Given the description of an element on the screen output the (x, y) to click on. 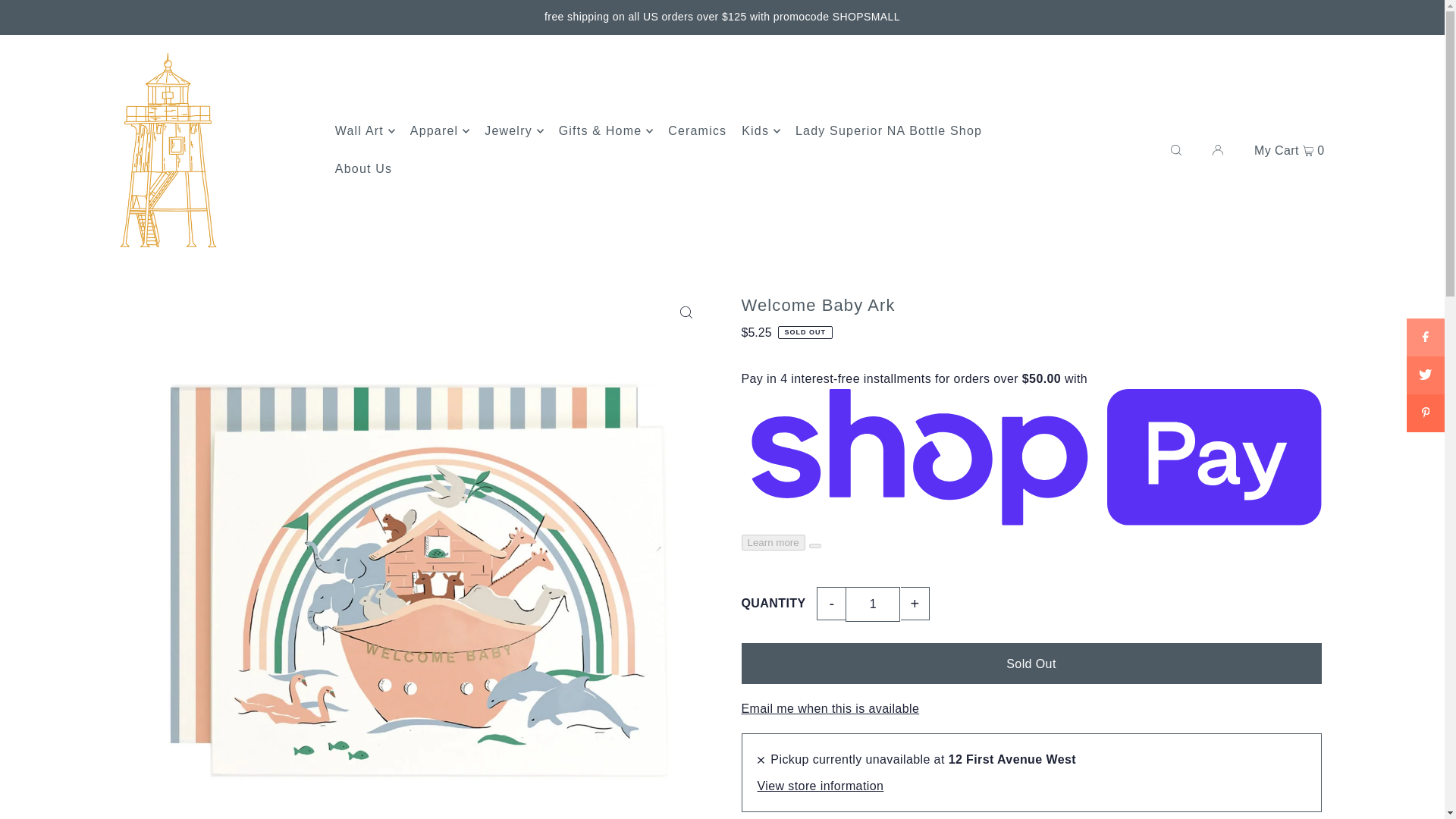
Sold Out (1031, 662)
Jewelry (513, 130)
Click to zoom (685, 312)
Wall Art (364, 130)
Apparel (440, 130)
1 (872, 604)
